Given the description of an element on the screen output the (x, y) to click on. 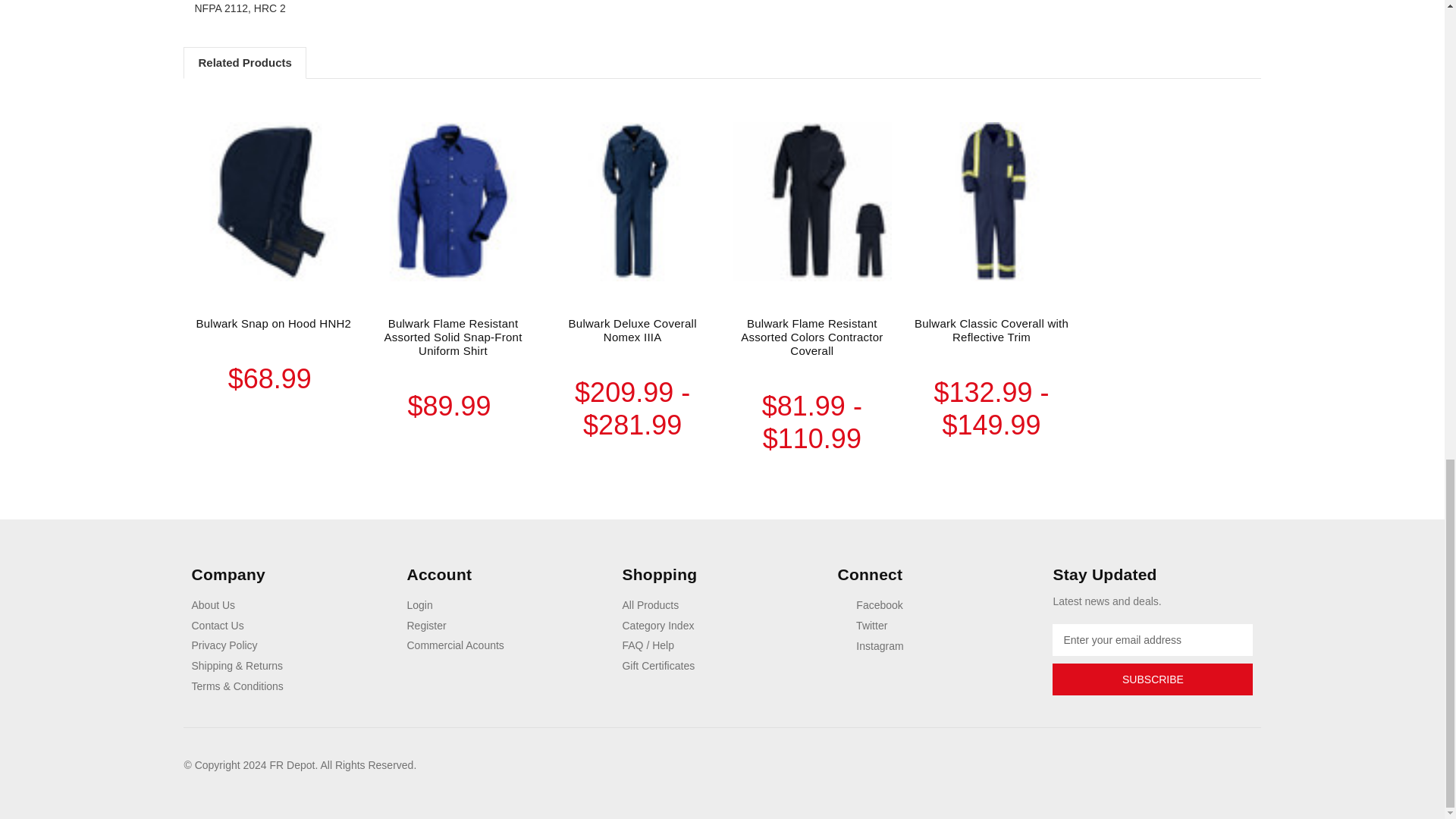
FR Bulwark Snap on Hood (273, 201)
Bulwark Nomex Coverall Flame Resistant (632, 201)
Bulwark Flame Resistant Contractor Coverall (811, 201)
Bulwark Flame Resistant Snap-Front Uniform Shirt (453, 201)
Subscribe (1152, 679)
Bulwark Classic Coverall with Reflective Trim (991, 201)
